Given the description of an element on the screen output the (x, y) to click on. 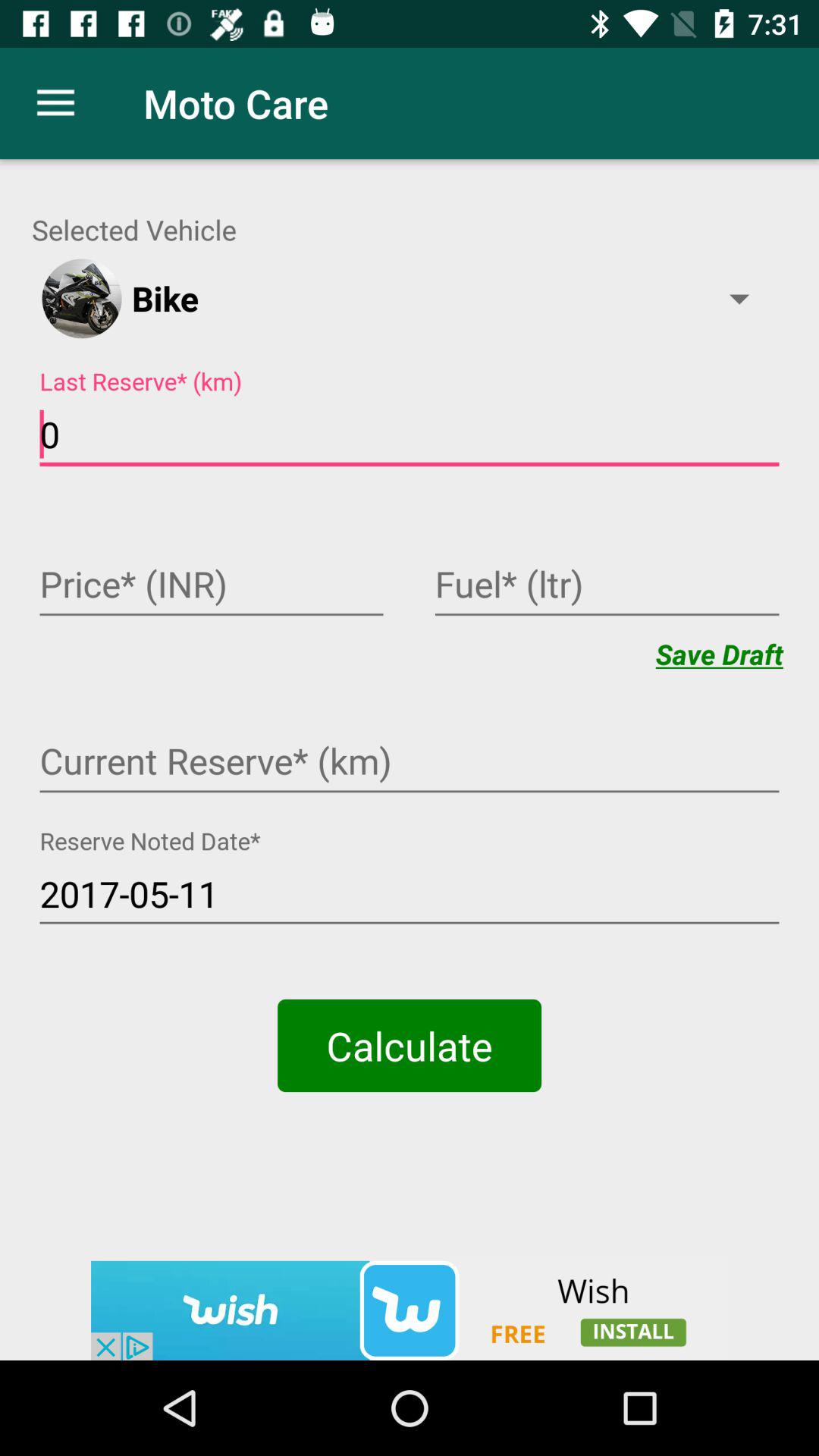
open the advertised app (409, 1310)
